Given the description of an element on the screen output the (x, y) to click on. 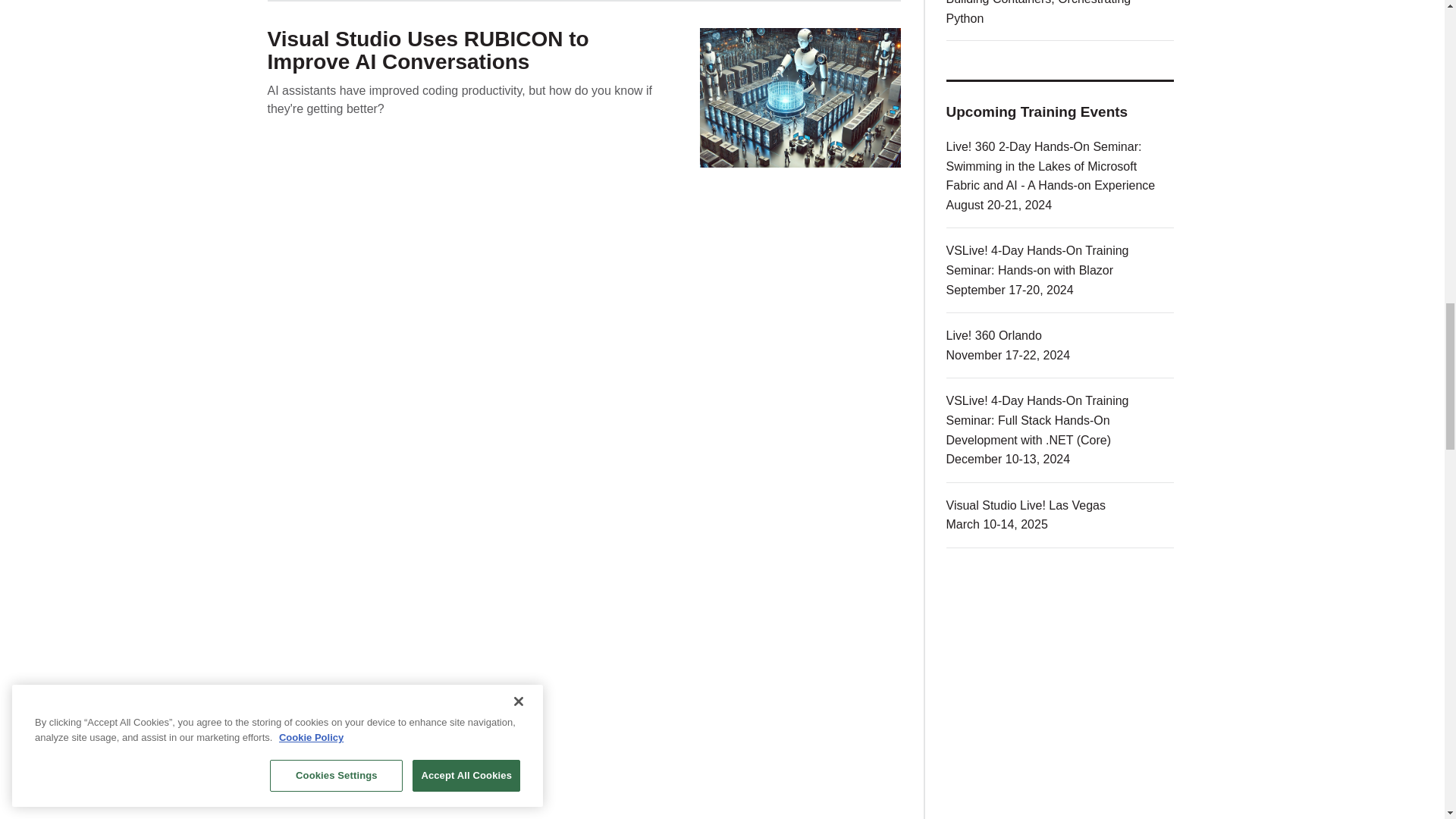
3rd party ad content (1059, 816)
3rd party ad content (1059, 680)
